Given the description of an element on the screen output the (x, y) to click on. 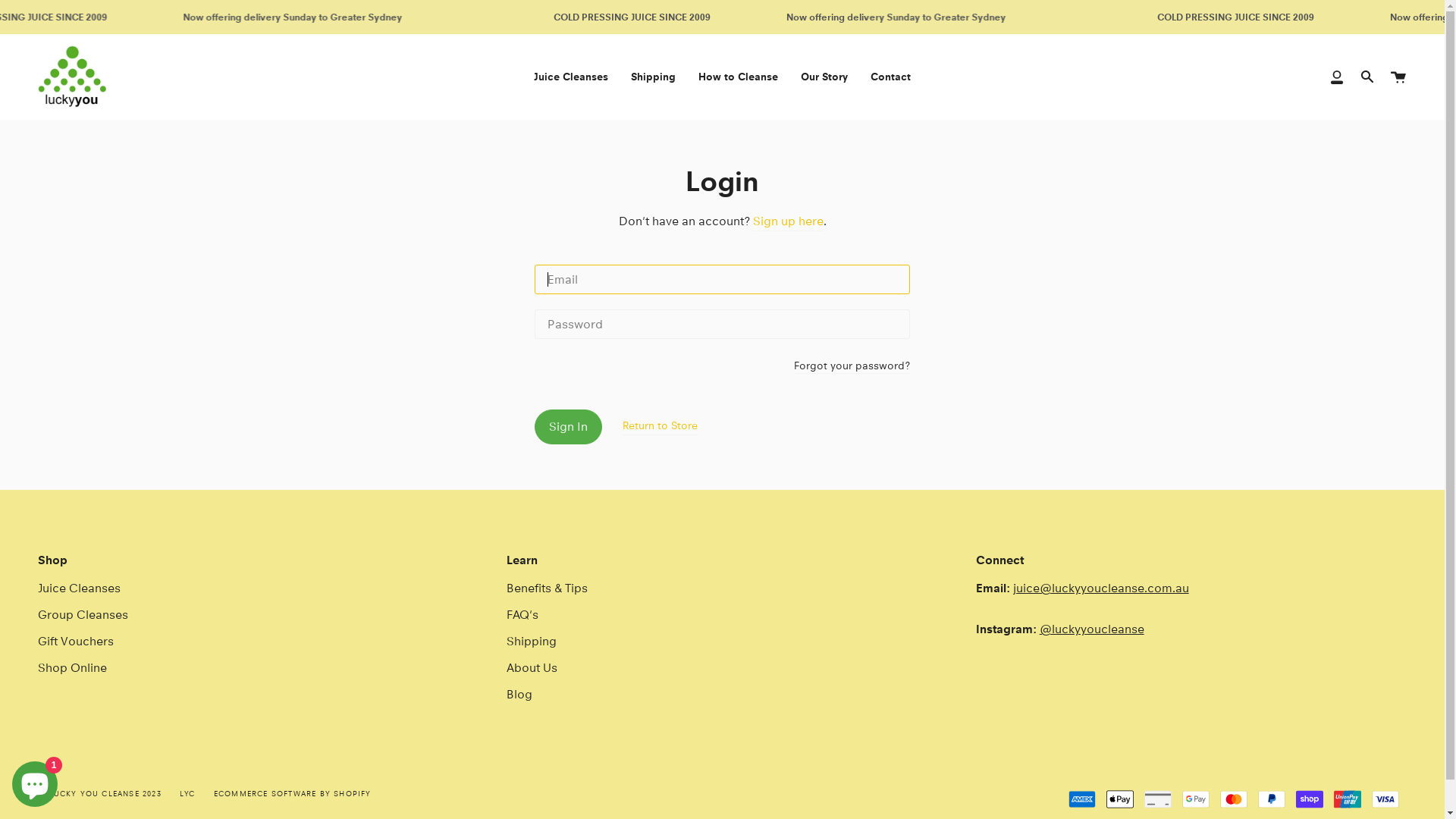
Shipping Element type: text (653, 76)
Search Element type: text (1367, 76)
Submit Element type: text (568, 650)
Cart Element type: text (1398, 76)
LYC Element type: text (187, 792)
Juice Cleanses Element type: text (570, 76)
ECOMMERCE SOFTWARE BY SHOPIFY Element type: text (292, 792)
Forgot your password? Element type: text (851, 366)
My Account Element type: text (1336, 76)
Contact Element type: text (890, 76)
Shopify online store chat Element type: hover (34, 780)
Our Story Element type: text (824, 76)
Shipping Element type: text (531, 640)
How to Cleanse Element type: text (738, 76)
Gift Vouchers Element type: text (75, 640)
About Us Element type: text (531, 667)
FAQ's Element type: text (522, 614)
Juice Cleanses Element type: text (78, 587)
juice@luckyyoucleanse.com.au Element type: text (1101, 587)
Shop Online Element type: text (71, 667)
Sign up here Element type: text (787, 220)
Return to Store Element type: text (659, 425)
Benefits & Tips Element type: text (546, 587)
Group Cleanses Element type: text (82, 614)
@luckyyoucleanse Element type: text (1091, 628)
Blog Element type: text (519, 694)
Sign In Element type: text (568, 426)
